Given the description of an element on the screen output the (x, y) to click on. 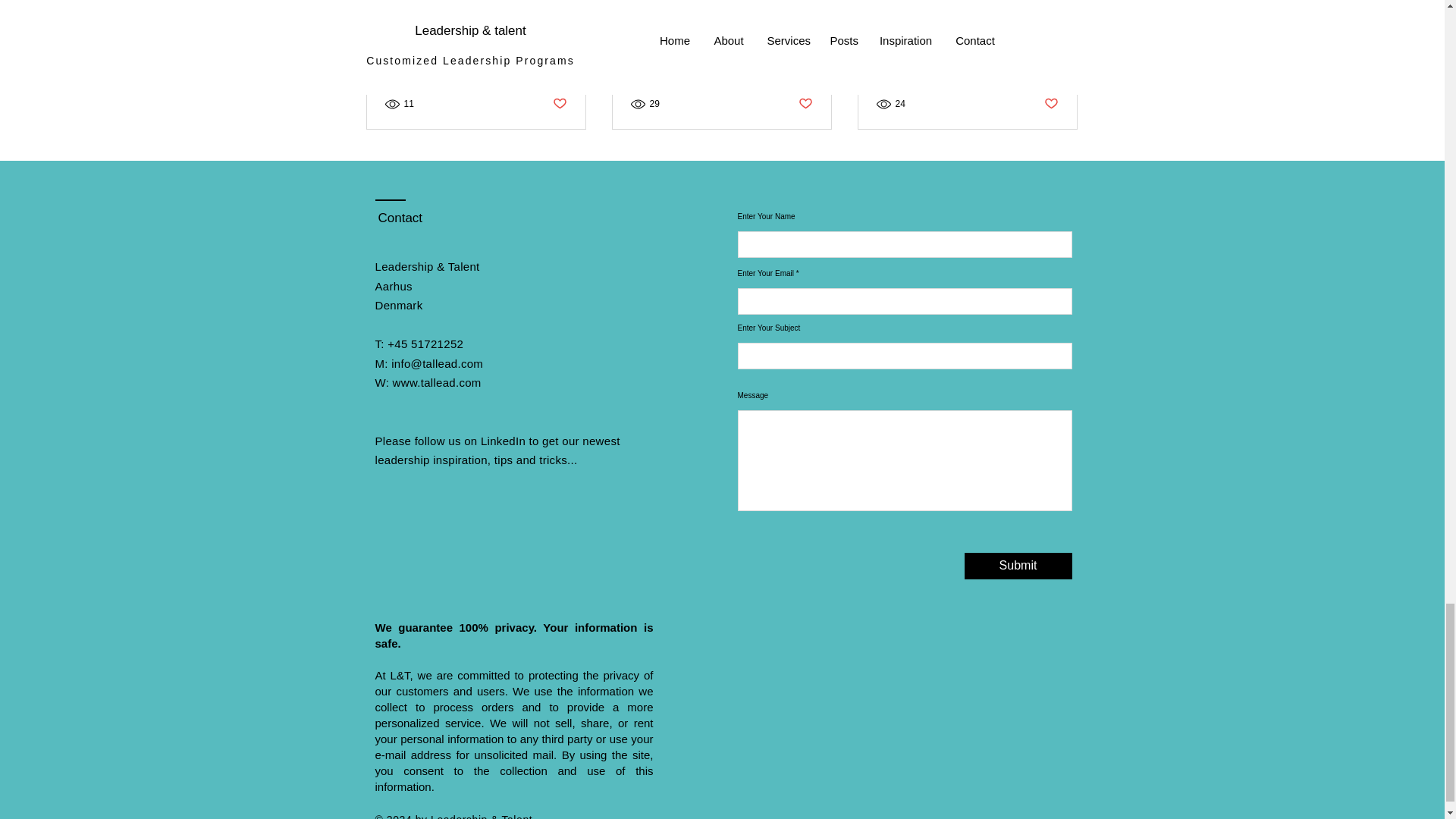
Post not marked as liked (804, 104)
A Coaching Package For Your Leaders And Talents (721, 50)
Post not marked as liked (1050, 104)
Hello To New Visitors (476, 42)
Post not marked as liked (558, 104)
Submit (1017, 565)
W: www.tallead.com (427, 382)
